Given the description of an element on the screen output the (x, y) to click on. 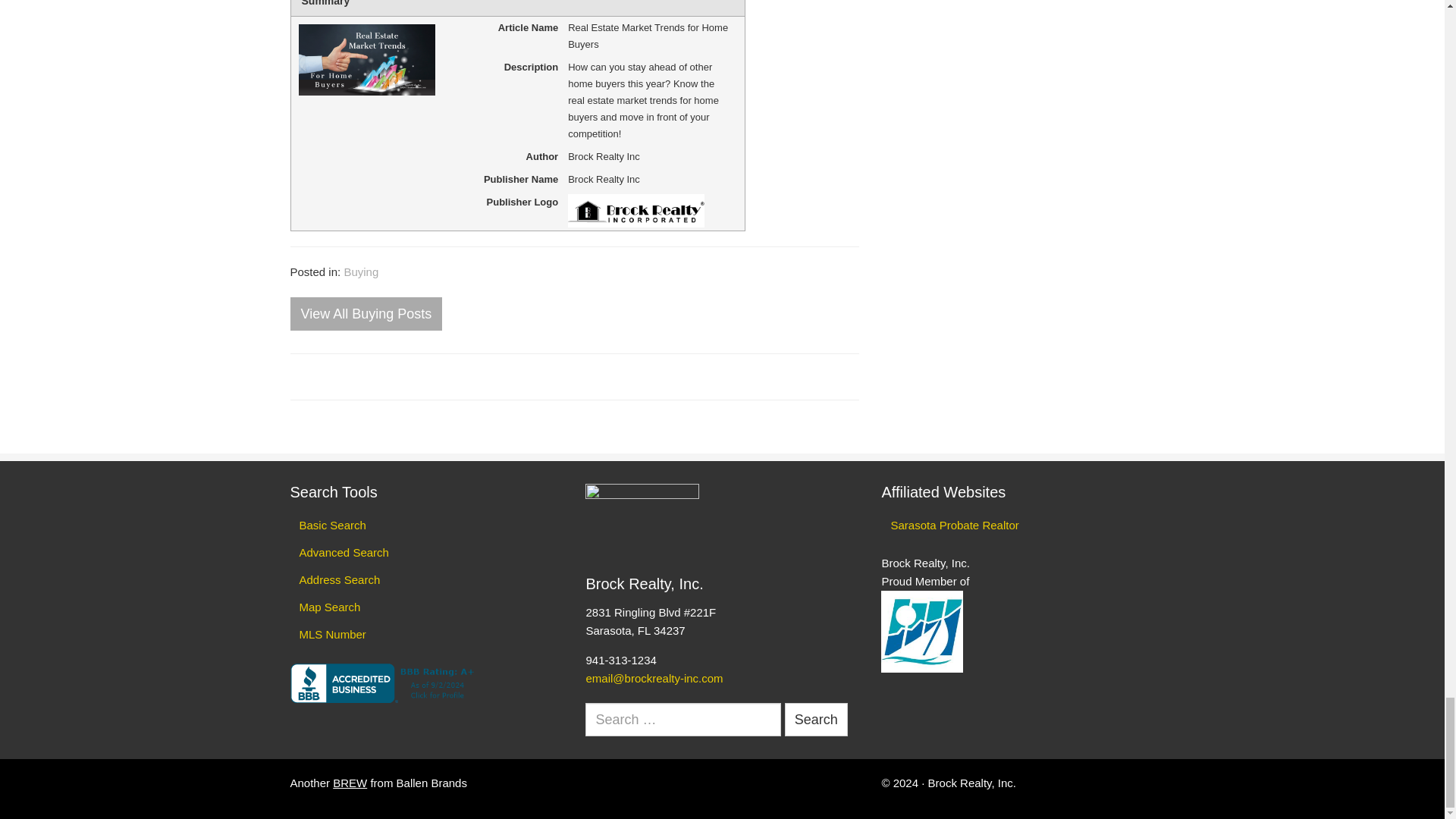
Search (815, 719)
Brock Realty, Inc., Real Estate Agent, Sarasota, FL (384, 682)
Manatee Chamber of Commerce (921, 631)
Search (815, 719)
